Given the description of an element on the screen output the (x, y) to click on. 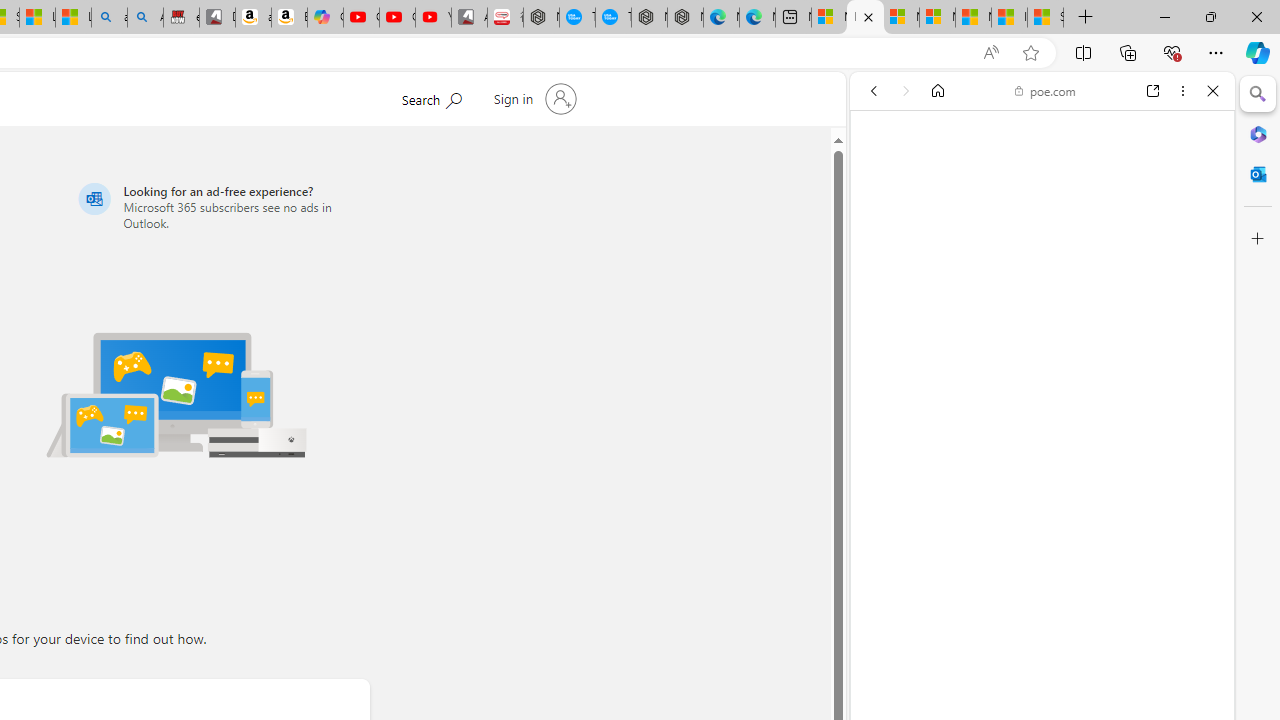
Nordace - My Account (541, 17)
Global web icon (888, 290)
I Gained 20 Pounds of Muscle in 30 Days! | Watch (1009, 17)
poe.com (1045, 90)
Copilot (325, 17)
Search the web (1051, 137)
Fast AI Chat (1042, 502)
